Given the description of an element on the screen output the (x, y) to click on. 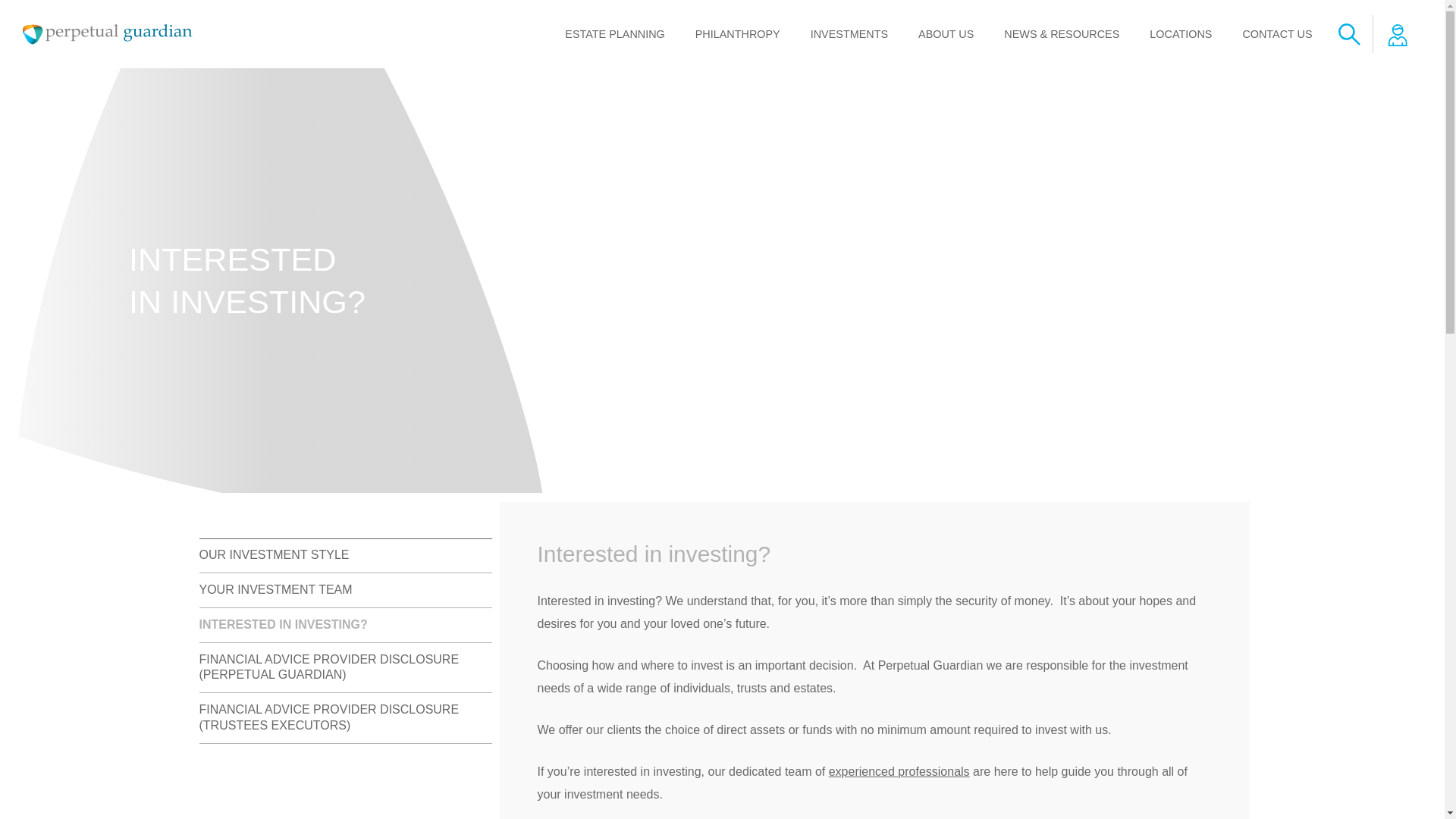
LOCATIONS (1180, 33)
CONTACT US (1276, 33)
PHILANTHROPY (736, 33)
INVESTMENTS (848, 33)
ESTATE PLANNING (614, 33)
ABOUT US (945, 33)
